Given the description of an element on the screen output the (x, y) to click on. 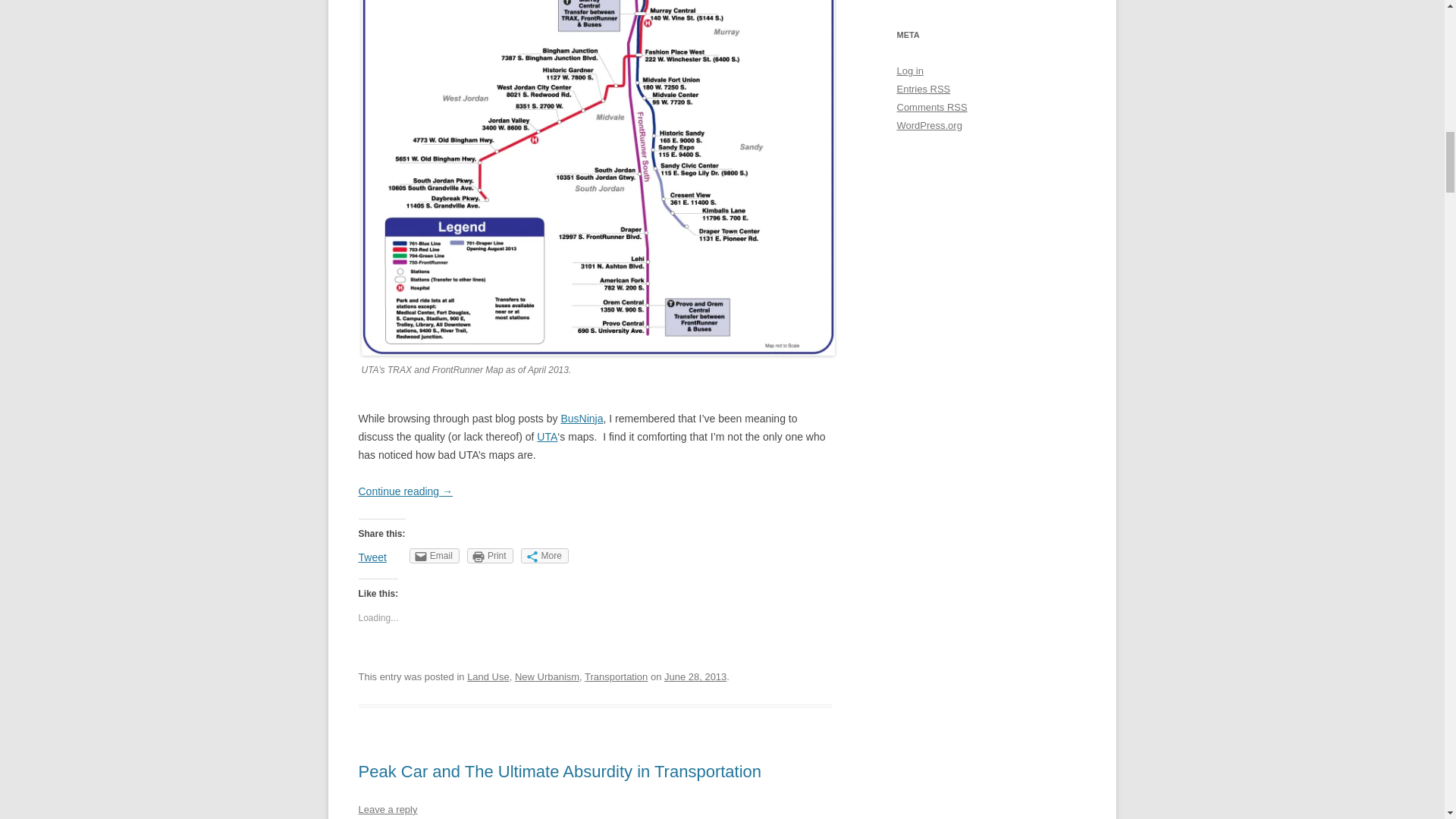
1:08 pm (694, 676)
UTA (547, 436)
Email (434, 555)
Print (490, 555)
Click to print (490, 555)
Tweet (371, 557)
Click to email this to a friend (434, 555)
BusNinja (581, 418)
More (545, 555)
